Given the description of an element on the screen output the (x, y) to click on. 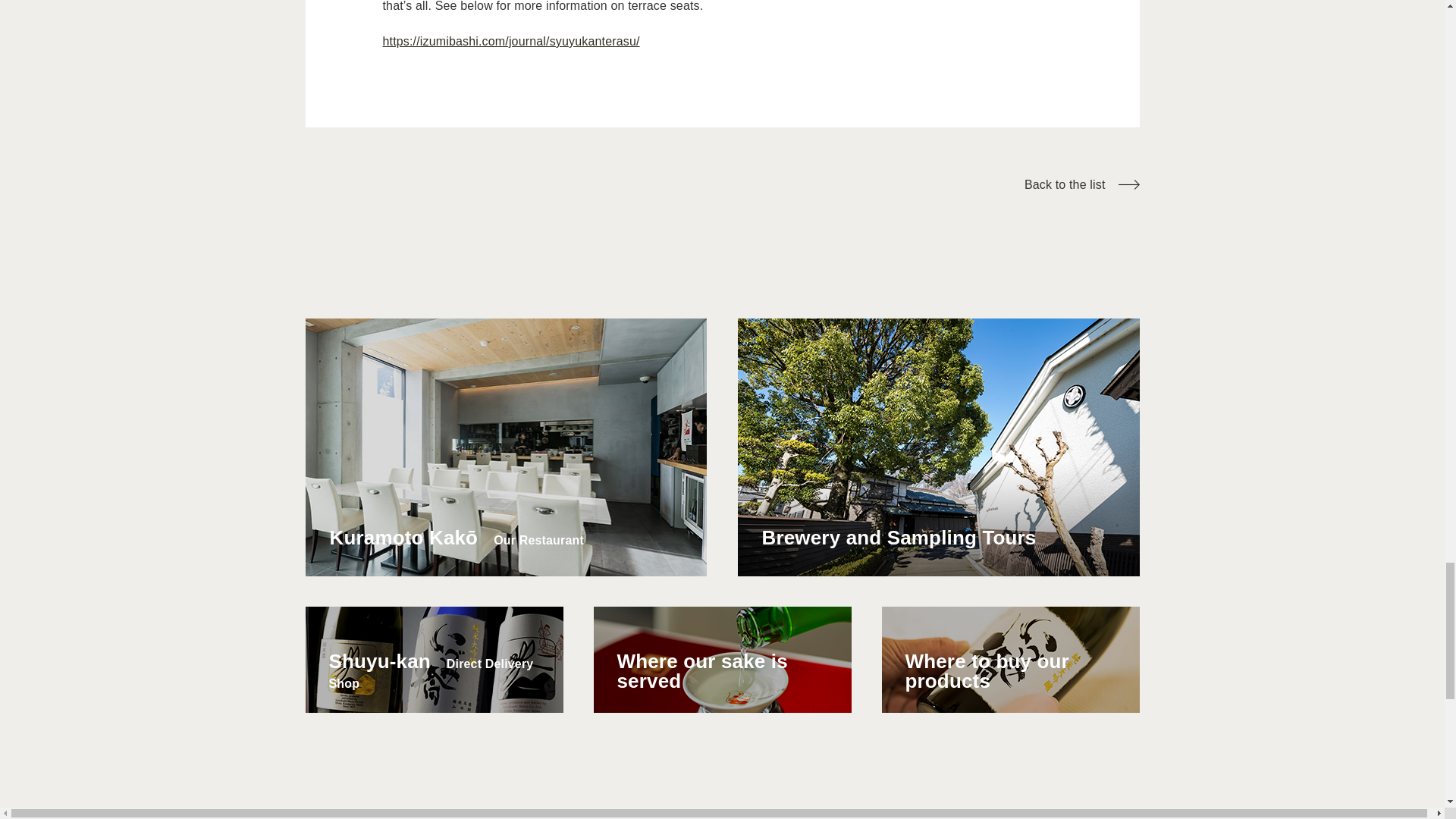
Brewery and Sampling Tours (939, 446)
Back to the list (1082, 184)
Shuyu-kanDirect Delivery Shop (433, 658)
Where our sake is served (721, 658)
Where to buy our products (1009, 658)
